Given the description of an element on the screen output the (x, y) to click on. 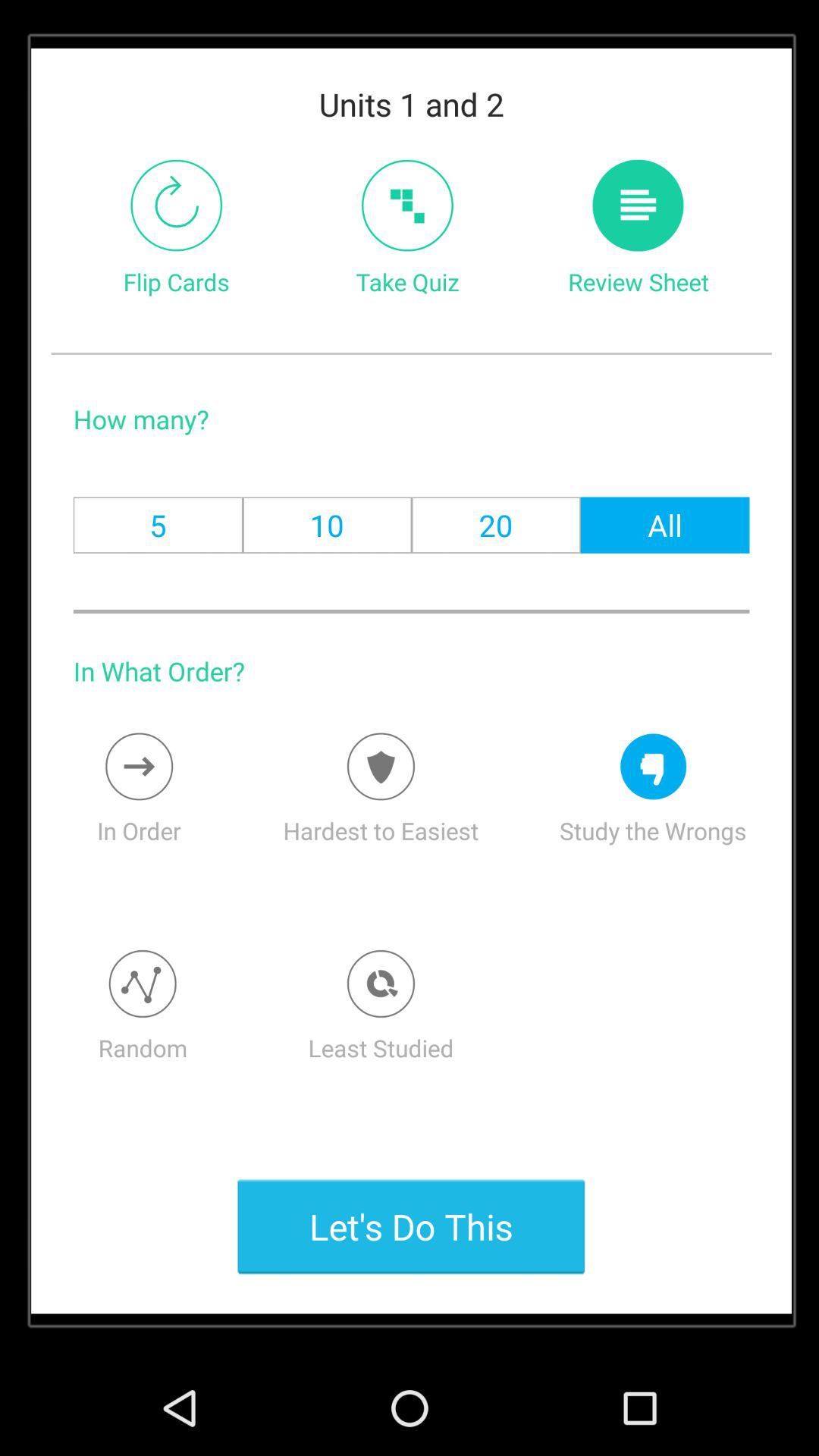
open the icon to the left of the review sheet item (407, 205)
